Given the description of an element on the screen output the (x, y) to click on. 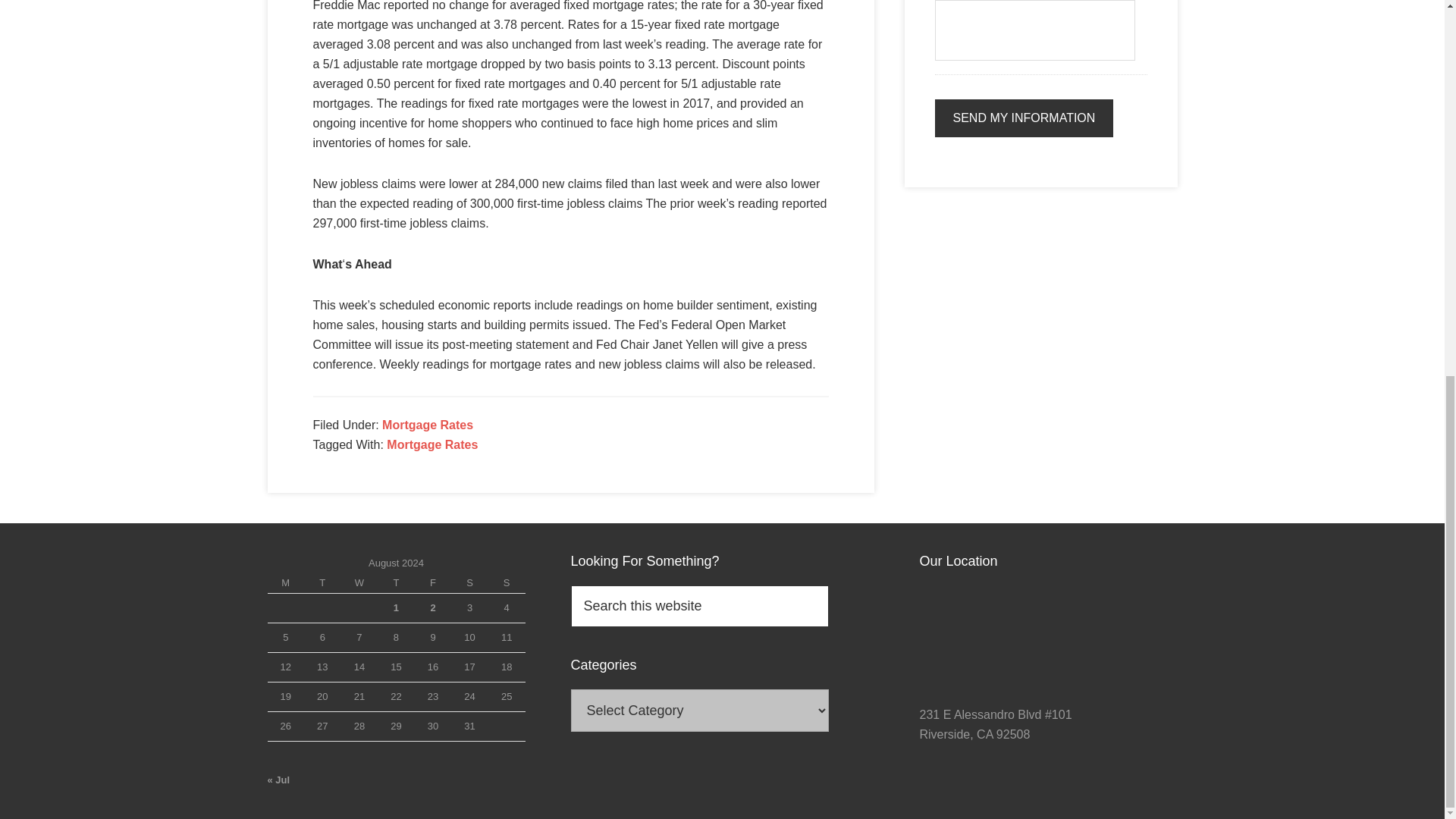
Friday (432, 583)
Mortgage Rates (432, 444)
Sunday (506, 583)
Tuesday (322, 583)
Wednesday (359, 583)
Send My Information (1023, 118)
Send My Information (1023, 118)
Thursday (395, 583)
Monday (285, 583)
Saturday (469, 583)
Mortgage Rates (427, 424)
